Given the description of an element on the screen output the (x, y) to click on. 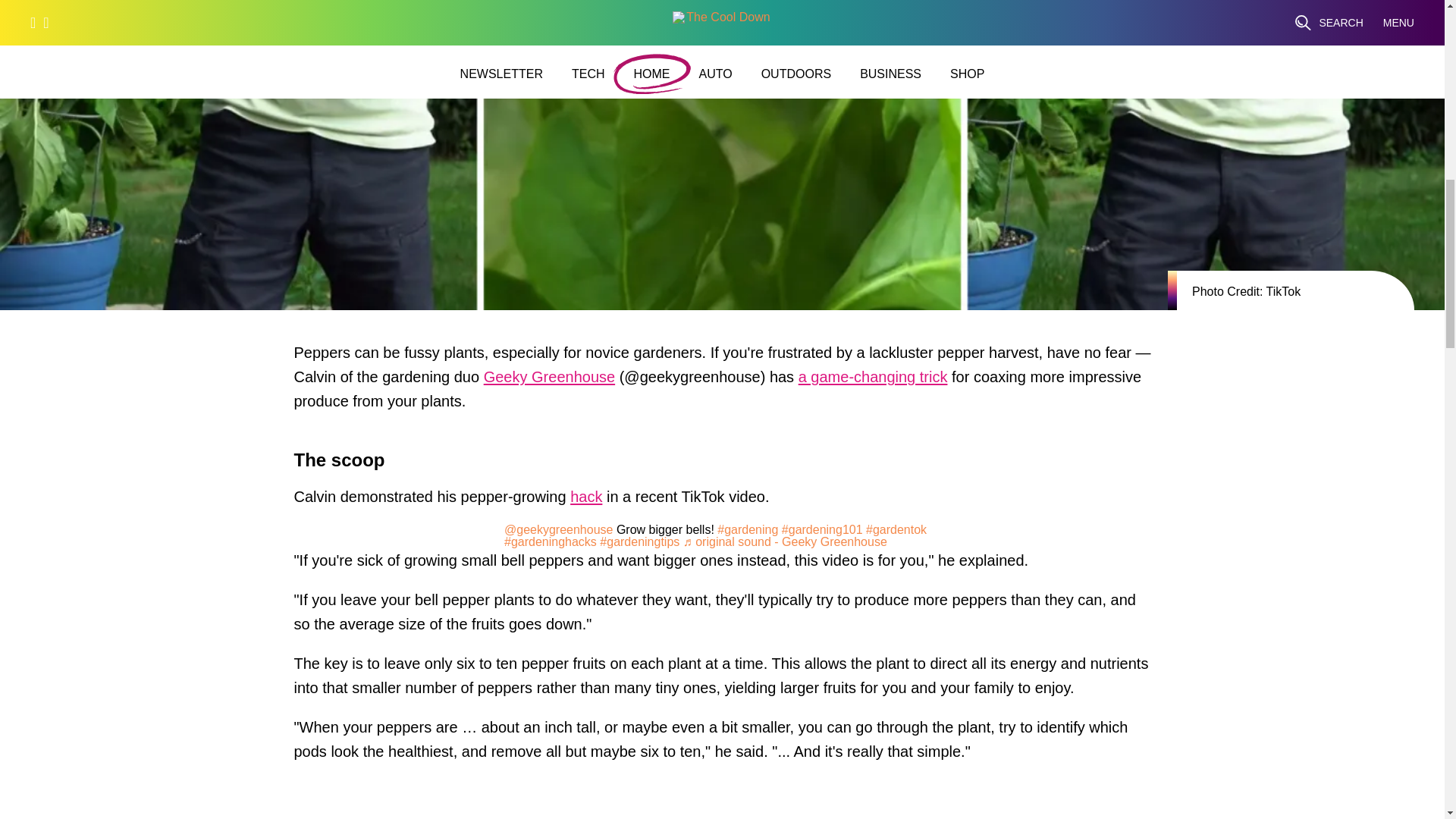
hack (586, 500)
gardeningtips (639, 541)
Hacks (586, 500)
gardeninghacks (549, 541)
gardening101 (822, 529)
a game-changing trick (872, 380)
gardentok (896, 529)
gardening (747, 529)
Geeky Greenhouse (548, 380)
